Given the description of an element on the screen output the (x, y) to click on. 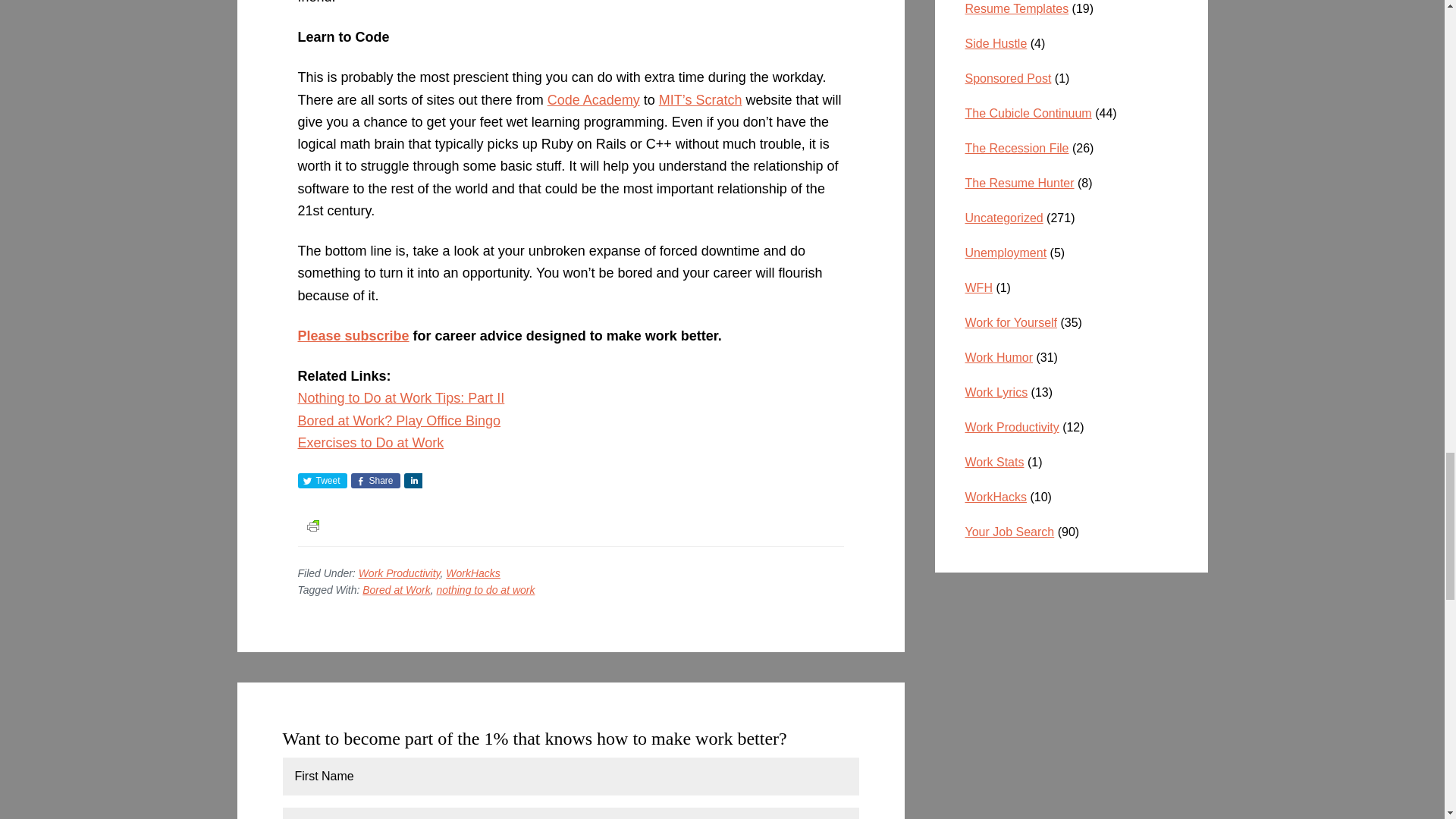
Share (412, 480)
Code Academy (593, 99)
Exercises to Do at Work (370, 442)
Please subscribe (353, 335)
Nothing to Do at Work Tips: Part II (400, 397)
Share (374, 480)
Tweet (321, 480)
Bored at Work? Play Office Bingo (398, 420)
